Given the description of an element on the screen output the (x, y) to click on. 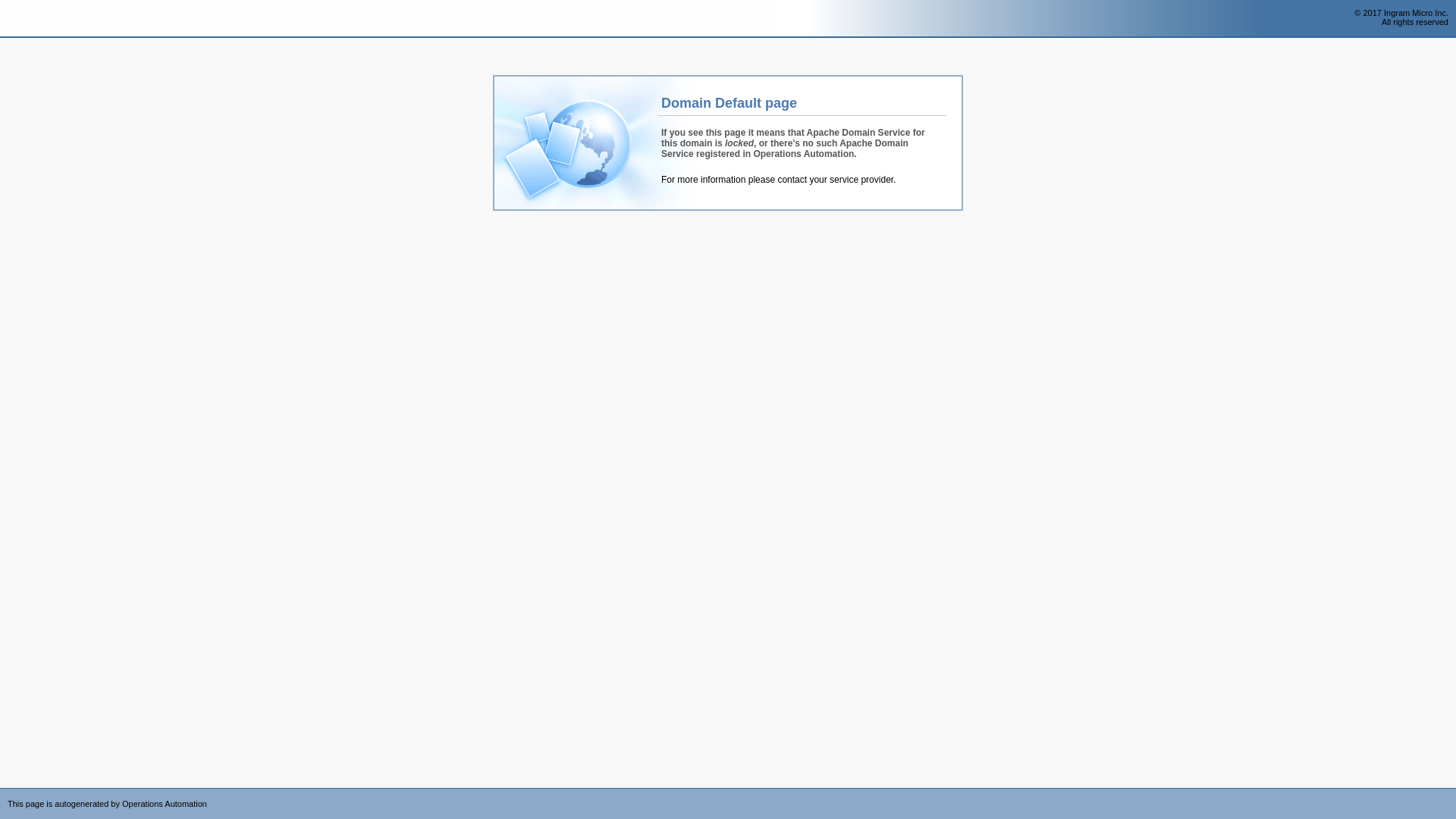
Powered by CloudBlue Commerce Element type: hover (1447, 792)
Operations Automation Element type: text (39, 18)
